Given the description of an element on the screen output the (x, y) to click on. 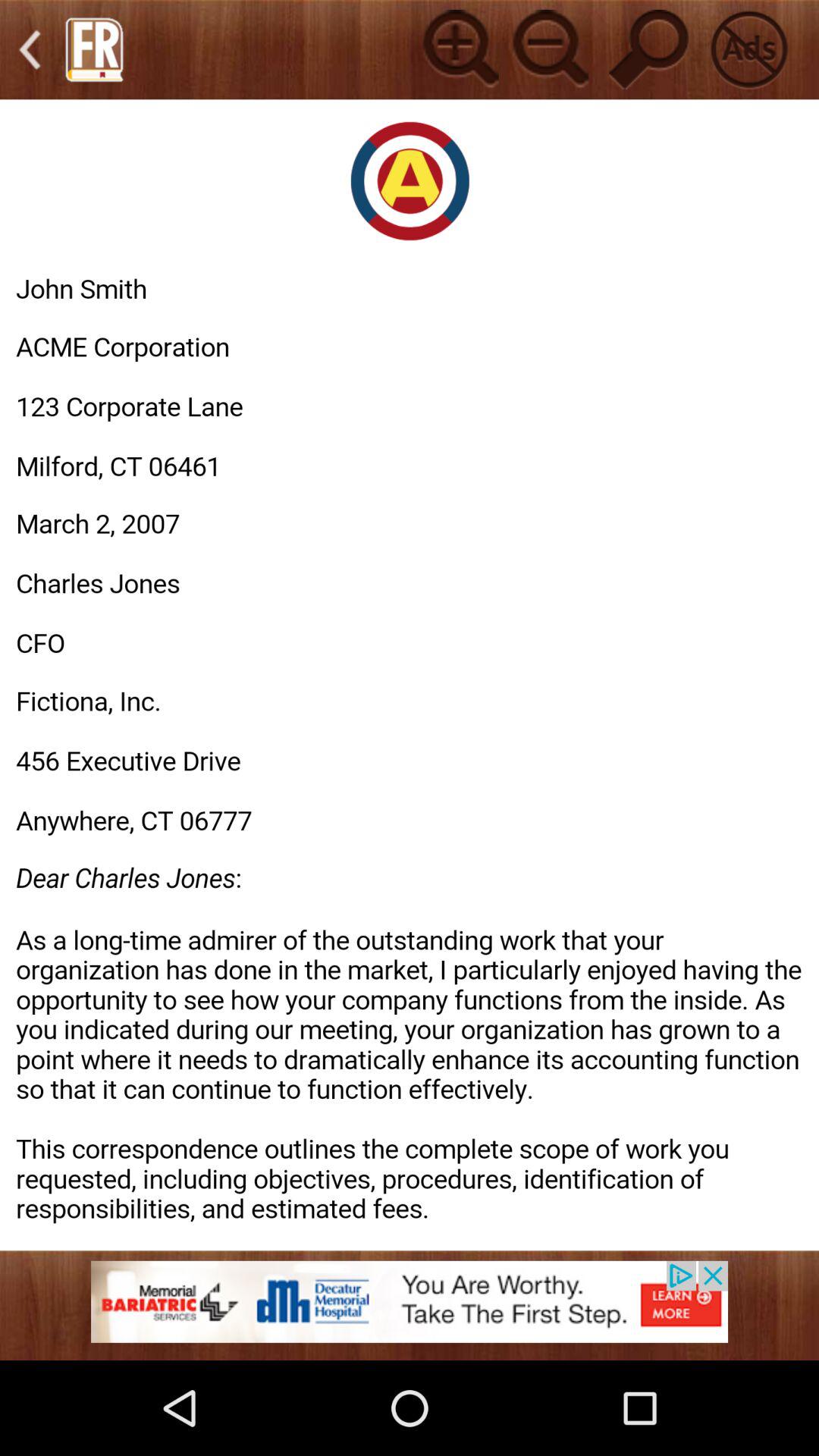
for search option (648, 49)
